Given the description of an element on the screen output the (x, y) to click on. 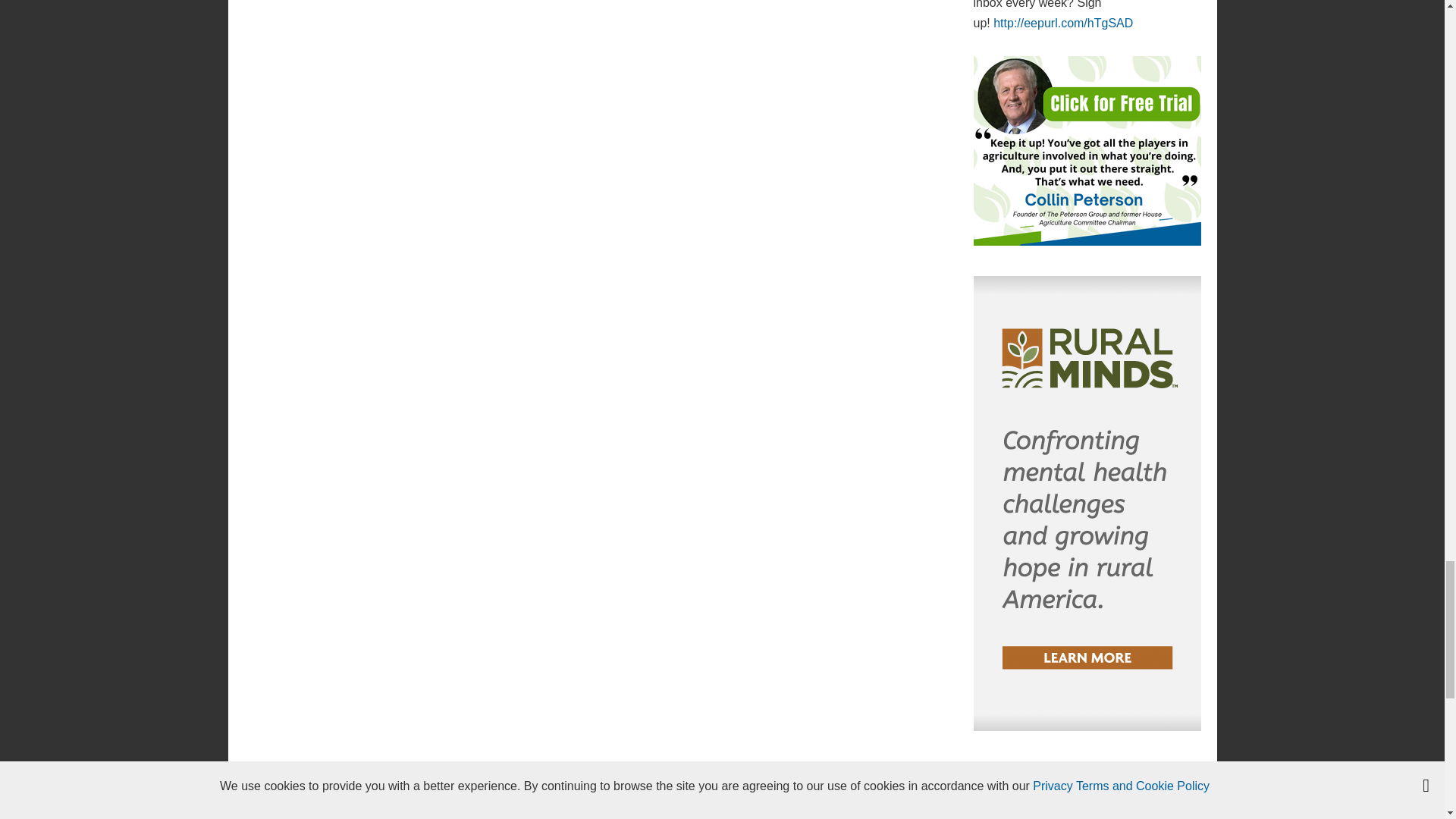
3rd party ad content (1087, 150)
3rd party ad content (721, 805)
